Given the description of an element on the screen output the (x, y) to click on. 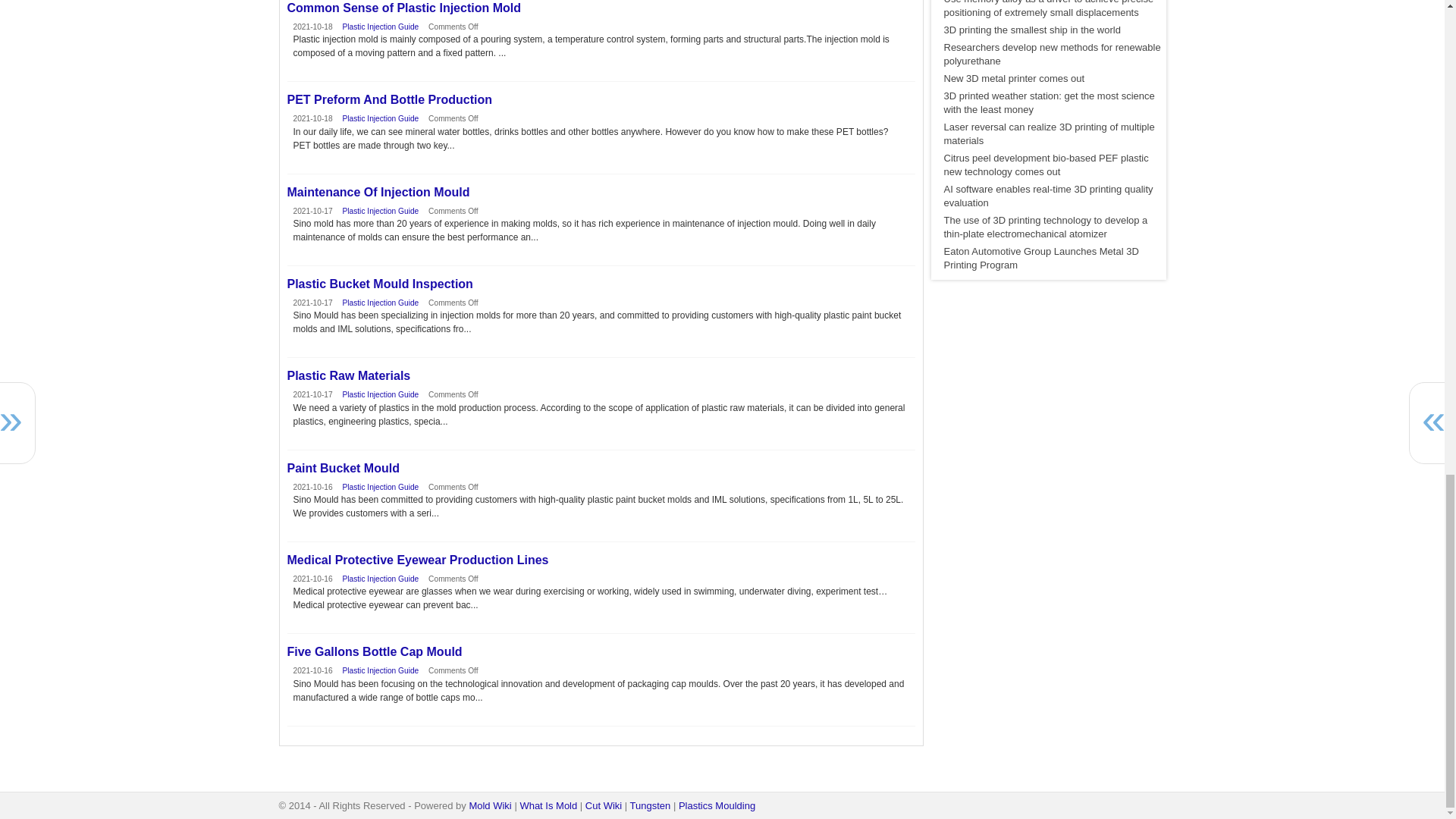
PET Preform And Bottle Production (600, 100)
Common Sense of Plastic Injection Mold (600, 8)
Plastic Bucket Mould Inspection (600, 284)
Medical Protective Eyewear Production Lines (600, 560)
Five Gallons Bottle Cap Mould (600, 652)
Paint Bucket Mould (600, 468)
Maintenance Of Injection Mould (600, 192)
Plastic Raw Materials (600, 376)
